Given the description of an element on the screen output the (x, y) to click on. 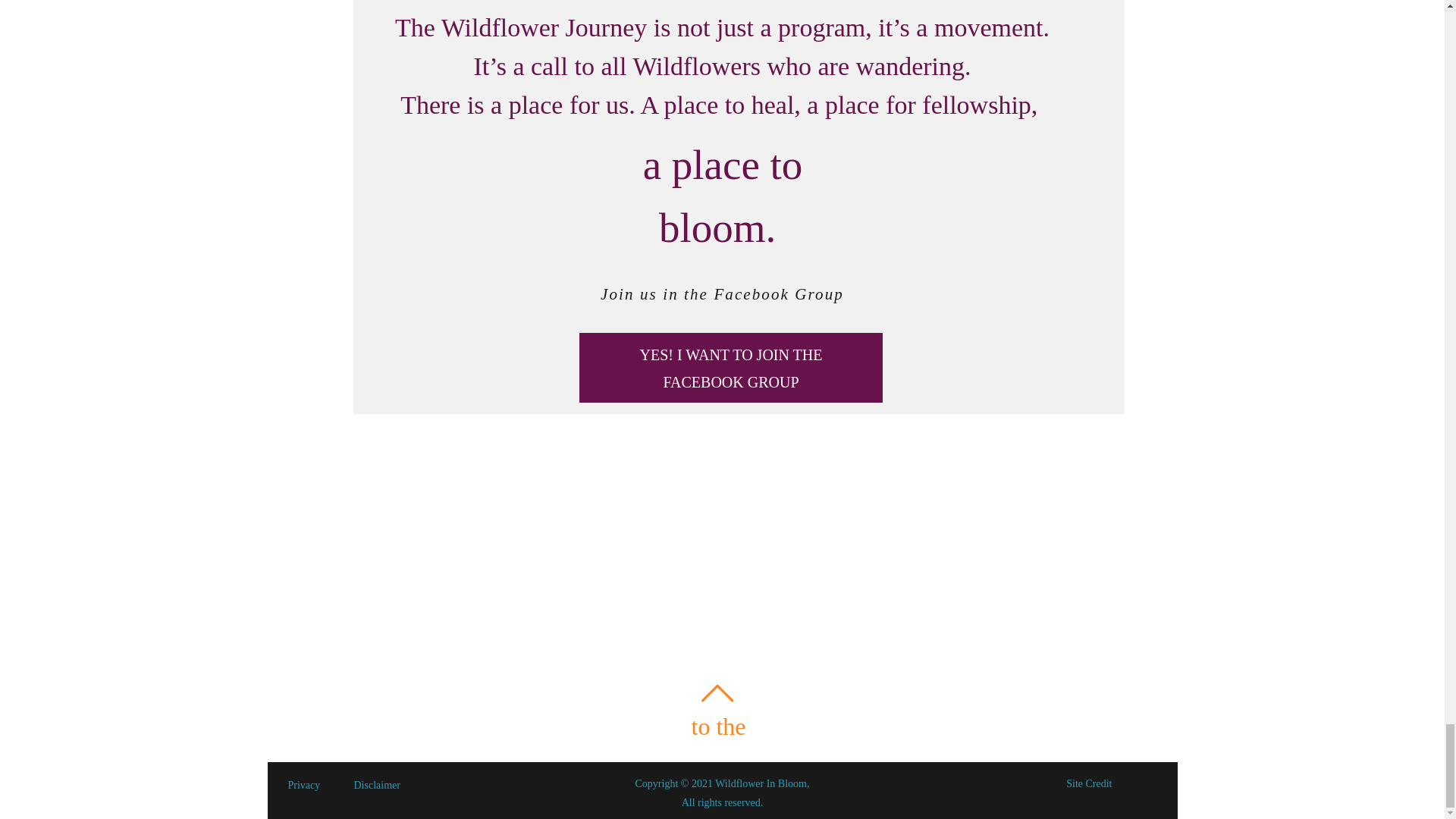
Site Credit (1072, 781)
ABOUT (1075, 652)
WORK WITH ME (1075, 725)
Disclaimer (389, 782)
YES! I WANT TO JOIN THE FACEBOOK GROUP (730, 367)
BLOG (1077, 688)
THE WILDFLOWER JOURNEY (1076, 613)
HOME (1076, 574)
to the top (718, 717)
Privacy  (318, 782)
